Given the description of an element on the screen output the (x, y) to click on. 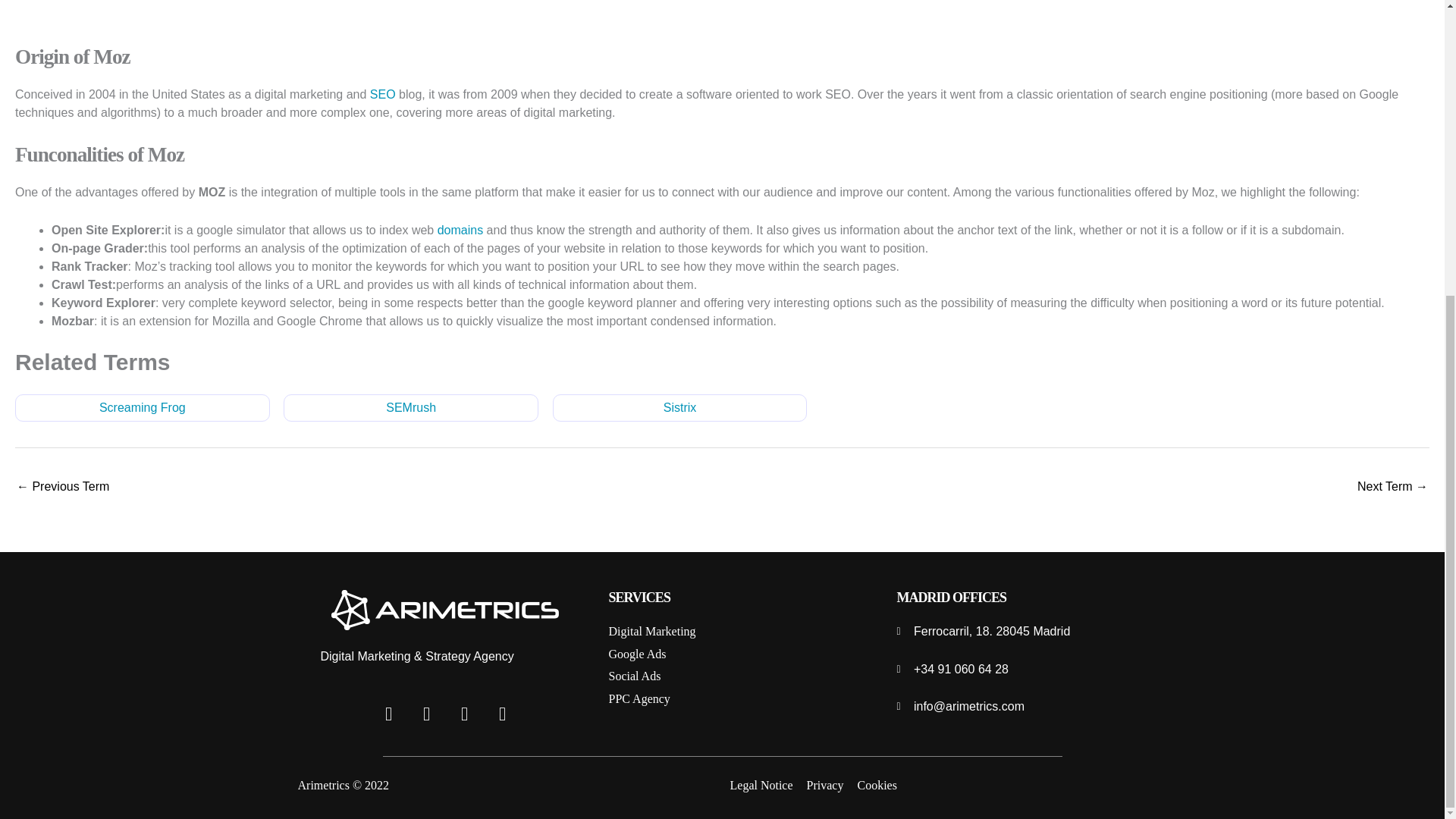
Search Engine (62, 488)
NoFollow Link (1392, 488)
